Given the description of an element on the screen output the (x, y) to click on. 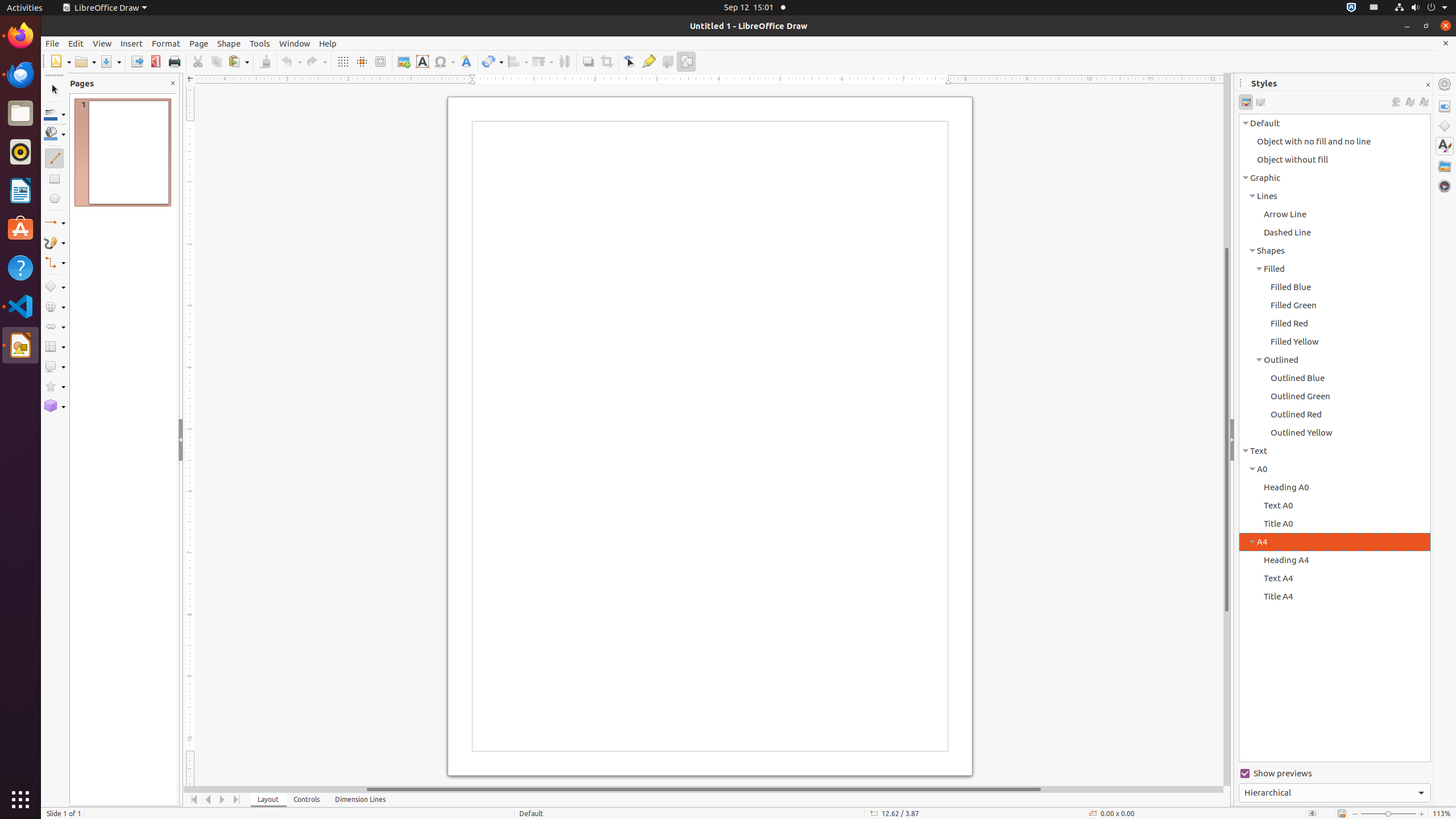
Arrange Element type: push-button (542, 61)
Image Element type: push-button (403, 61)
Shape Element type: menu (228, 43)
Thunderbird Mail Element type: push-button (20, 74)
Insert Element type: menu (131, 43)
